Given the description of an element on the screen output the (x, y) to click on. 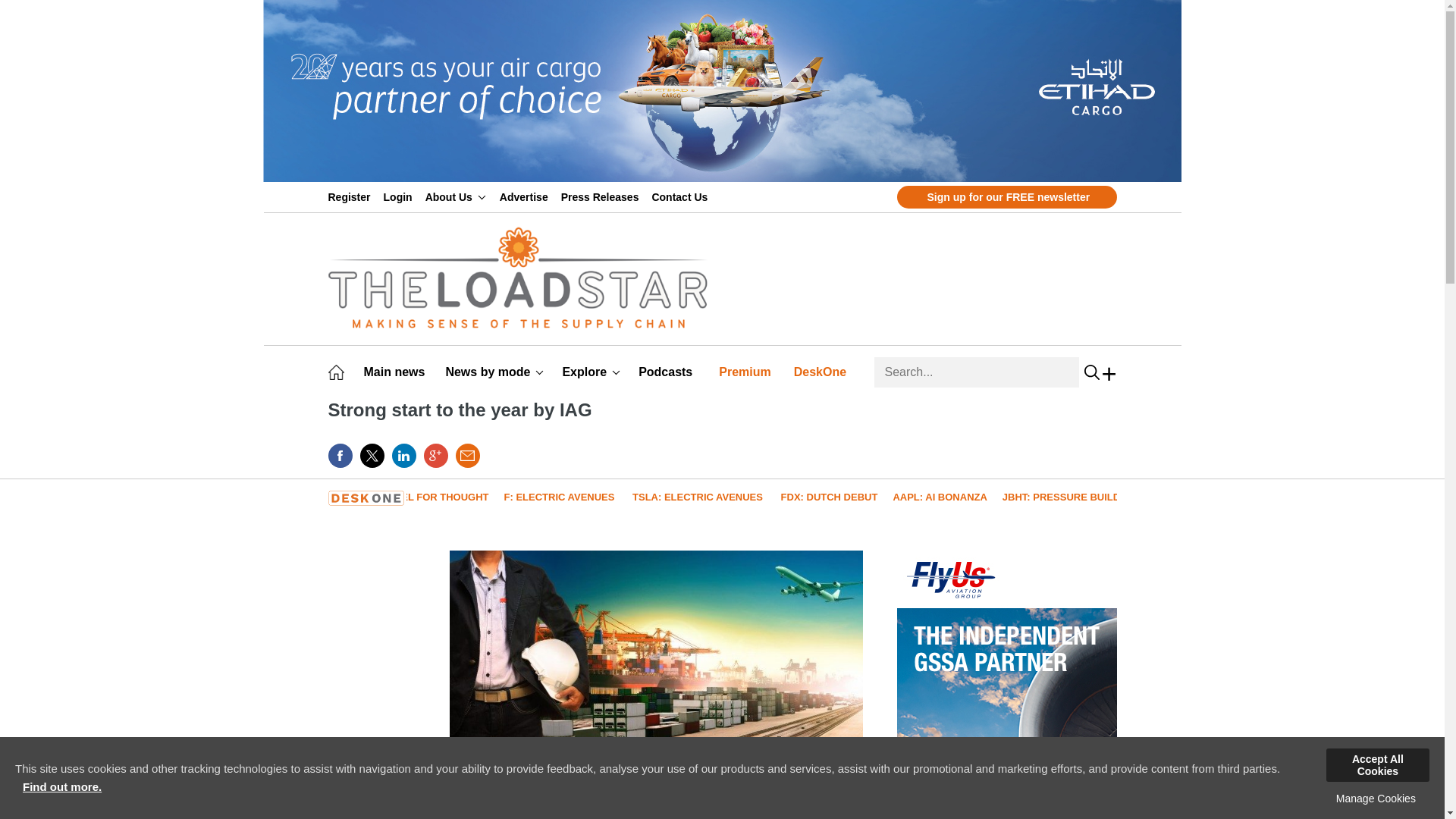
Explore (591, 371)
Login (400, 196)
Contact Us (681, 196)
DeskOne (822, 371)
Advertise (526, 196)
Login (400, 196)
Press Releases (602, 196)
Advertise (526, 196)
Loadstar Premium (747, 371)
Register (351, 196)
Register (351, 196)
Premium (747, 371)
Contact Us (681, 196)
Sign up for our FREE newsletter (1006, 196)
About Us (455, 196)
